Given the description of an element on the screen output the (x, y) to click on. 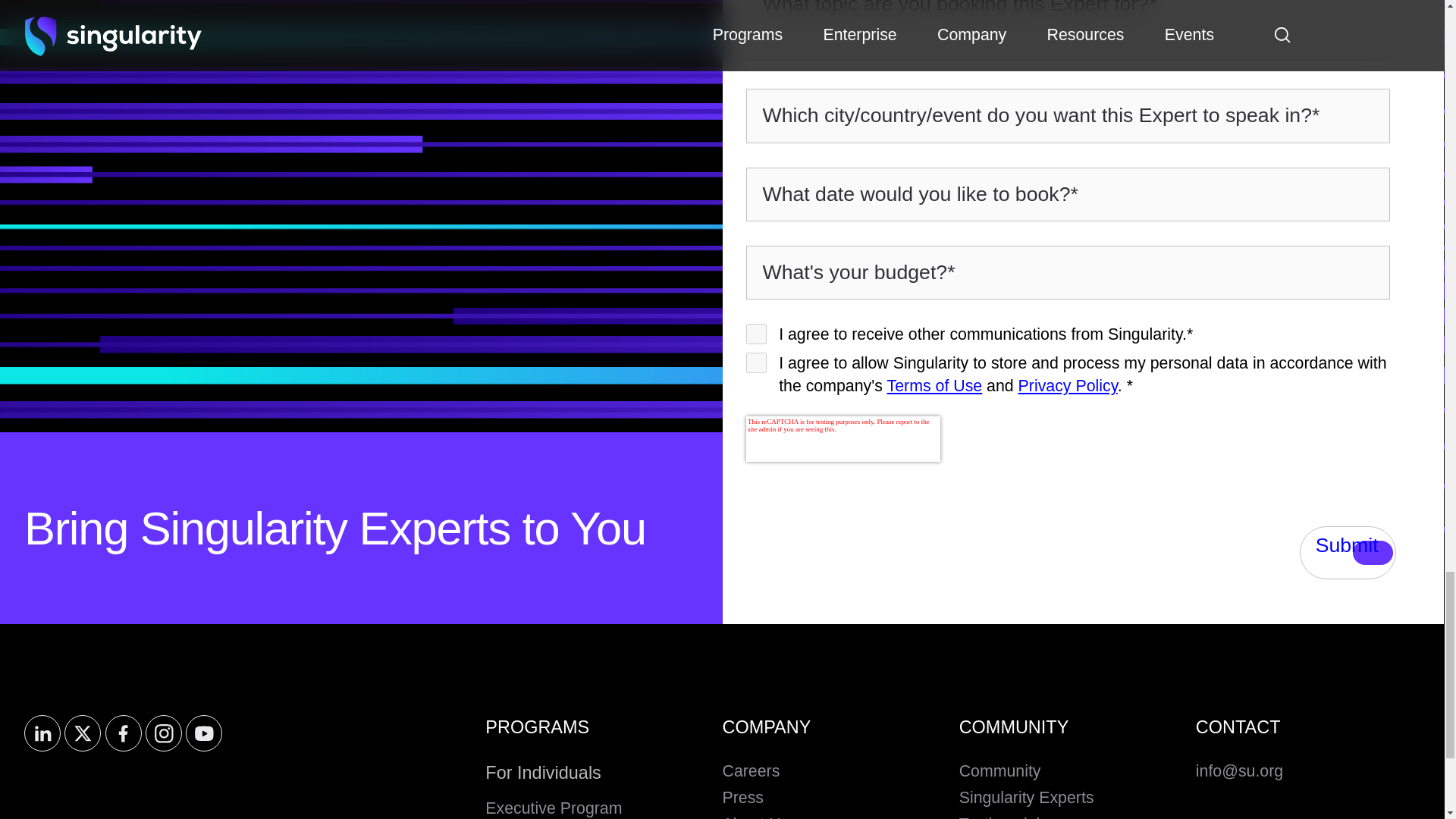
Terms of Use (934, 385)
true (756, 362)
reCAPTCHA (842, 438)
Privacy Policy (1067, 385)
Submit (1348, 552)
true (756, 333)
